Given the description of an element on the screen output the (x, y) to click on. 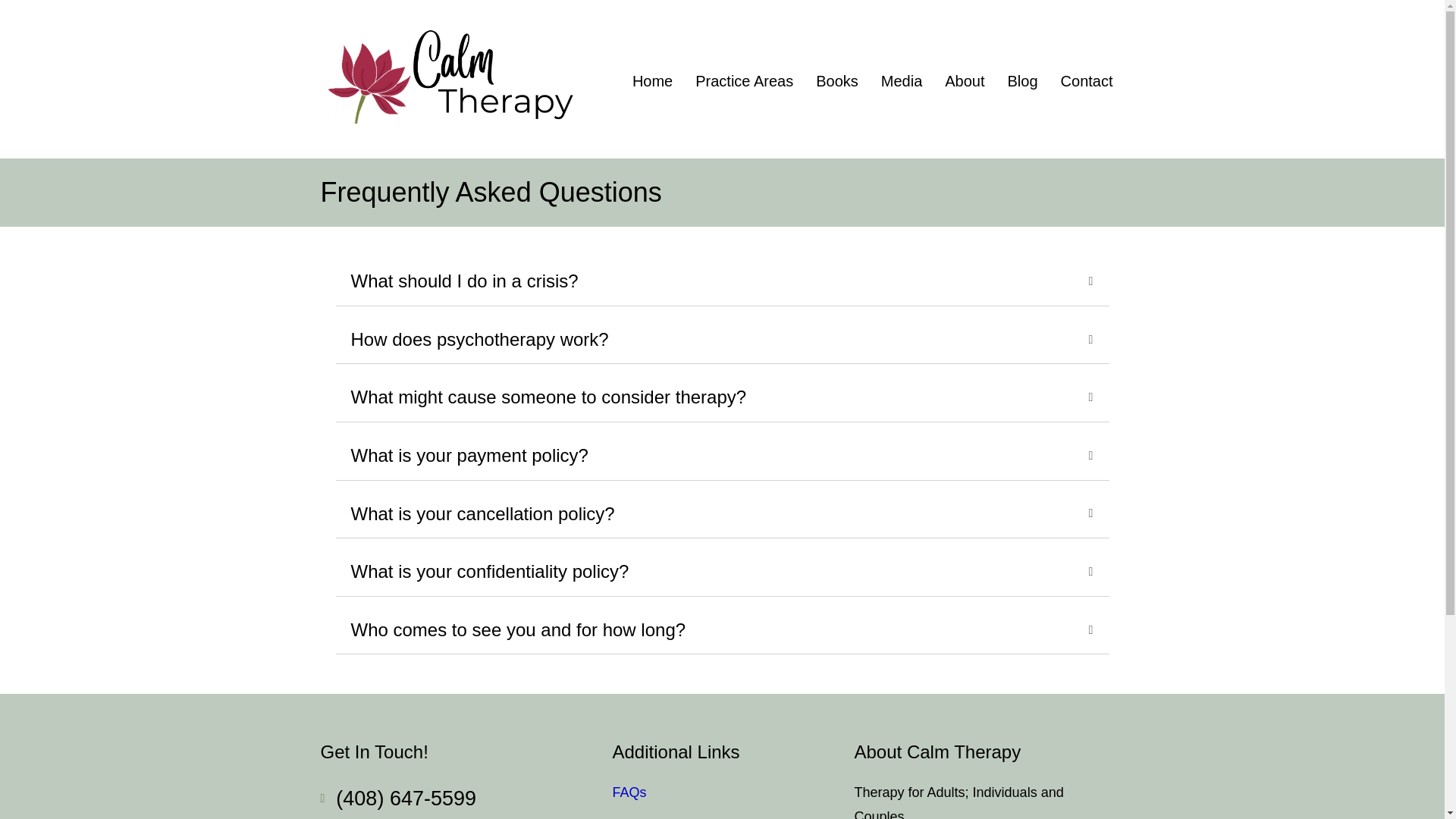
Blog (1022, 81)
Online Payment (661, 817)
Books (837, 81)
3 (450, 80)
Media (901, 81)
Contact (1086, 81)
FAQs (629, 792)
About (964, 81)
Practice Areas (743, 81)
Home (651, 81)
